Given the description of an element on the screen output the (x, y) to click on. 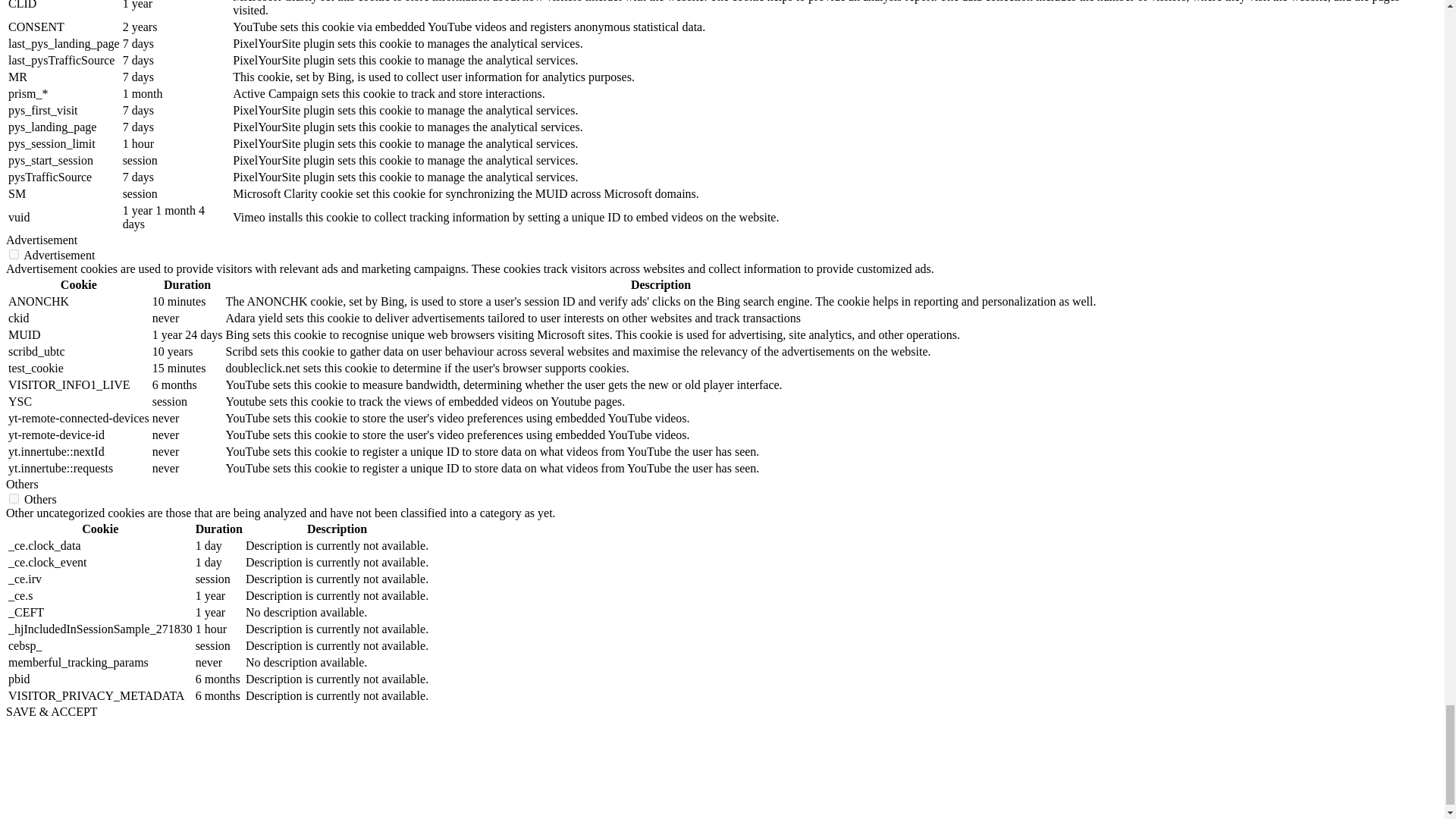
on (13, 498)
on (13, 254)
